Given the description of an element on the screen output the (x, y) to click on. 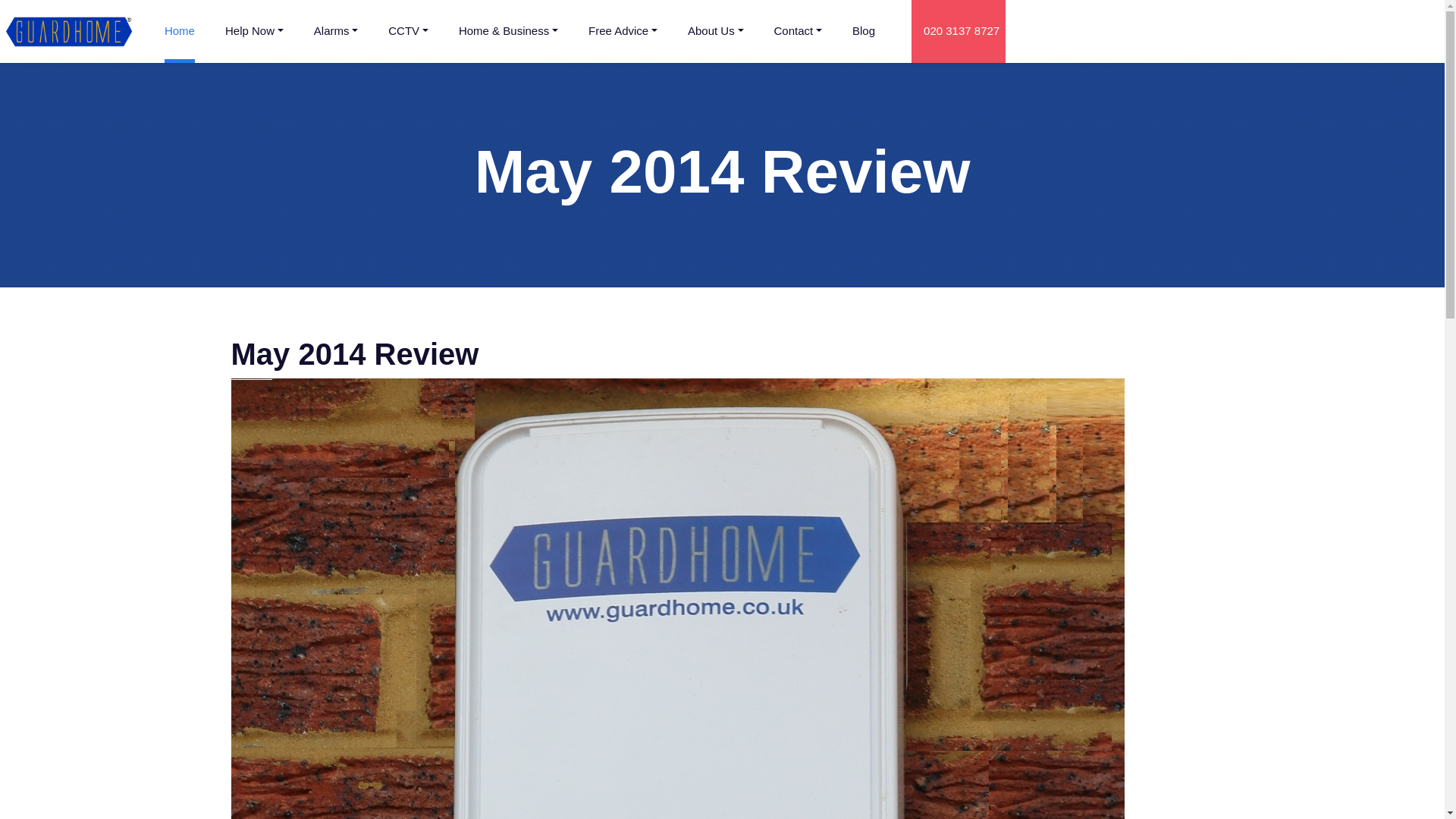
Free Advice (623, 31)
Help Now (254, 31)
020 3137 8727 (958, 31)
About Us (715, 31)
